Given the description of an element on the screen output the (x, y) to click on. 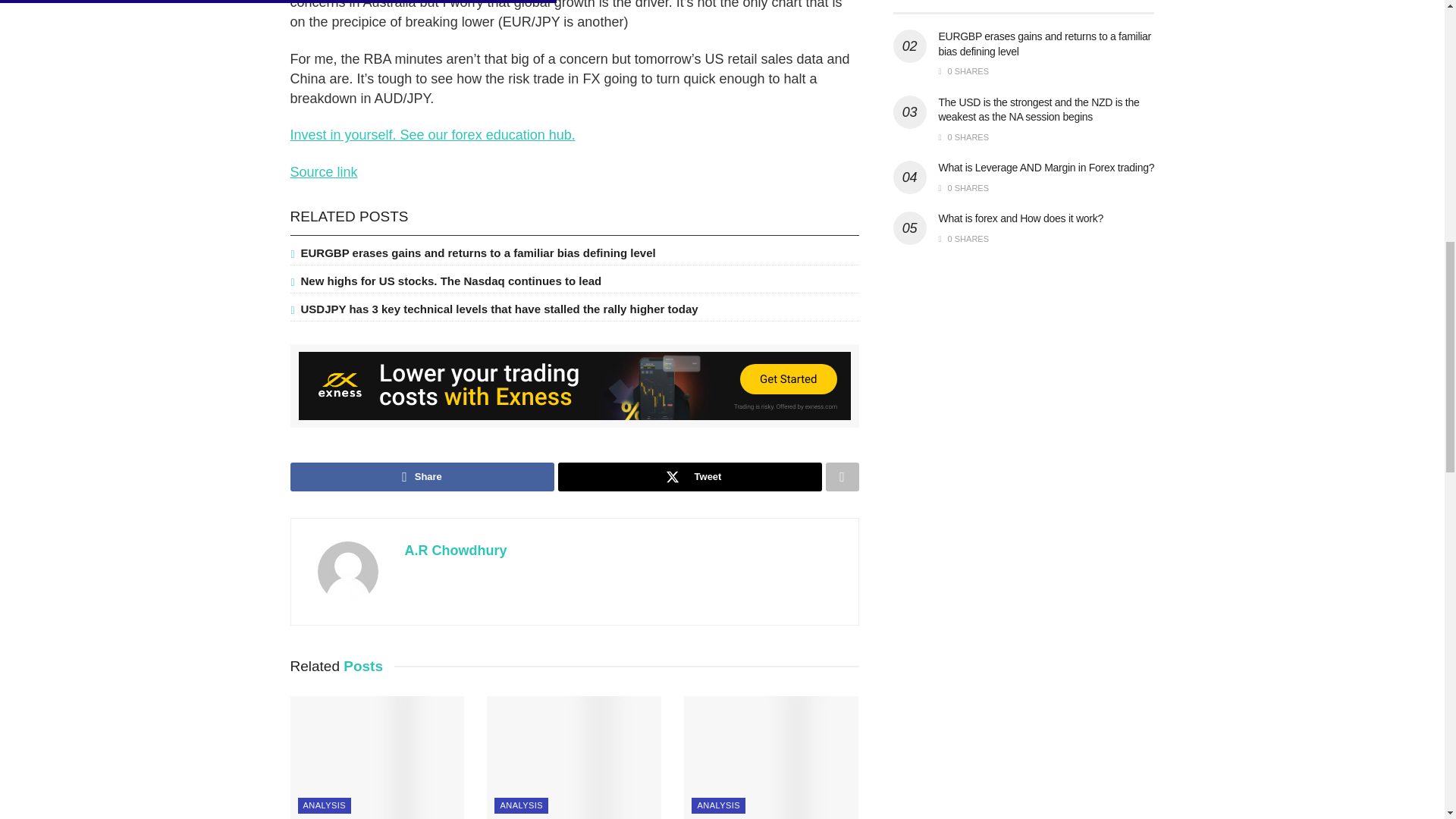
Tweet (689, 476)
Share (421, 476)
New highs for US stocks. The Nasdaq continues to lead (450, 280)
ANALYSIS (323, 805)
Invest in yourself. See our forex education hub. (432, 134)
A.R Chowdhury (455, 549)
Source link (322, 171)
